Given the description of an element on the screen output the (x, y) to click on. 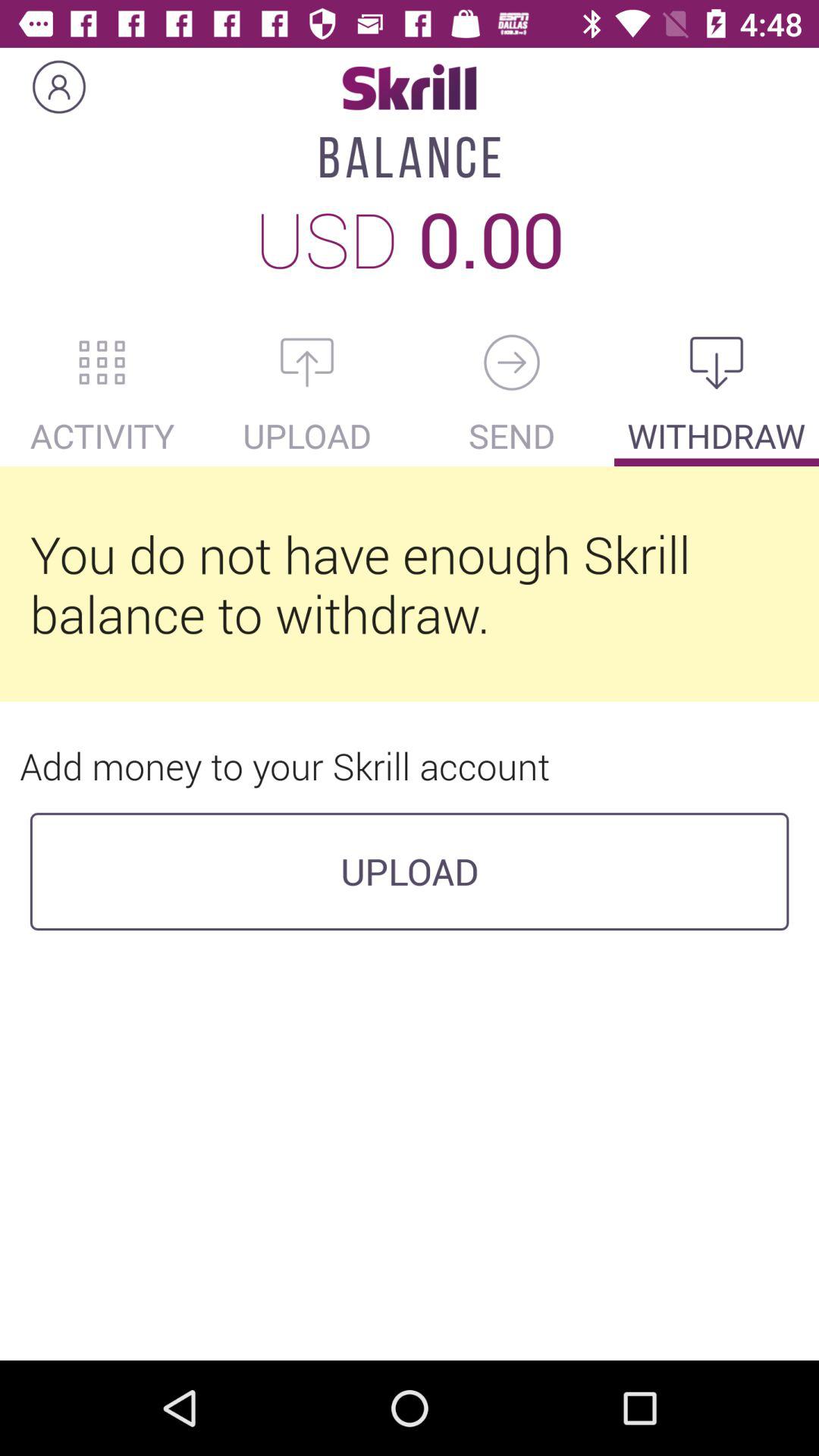
check your activity option (102, 362)
